Given the description of an element on the screen output the (x, y) to click on. 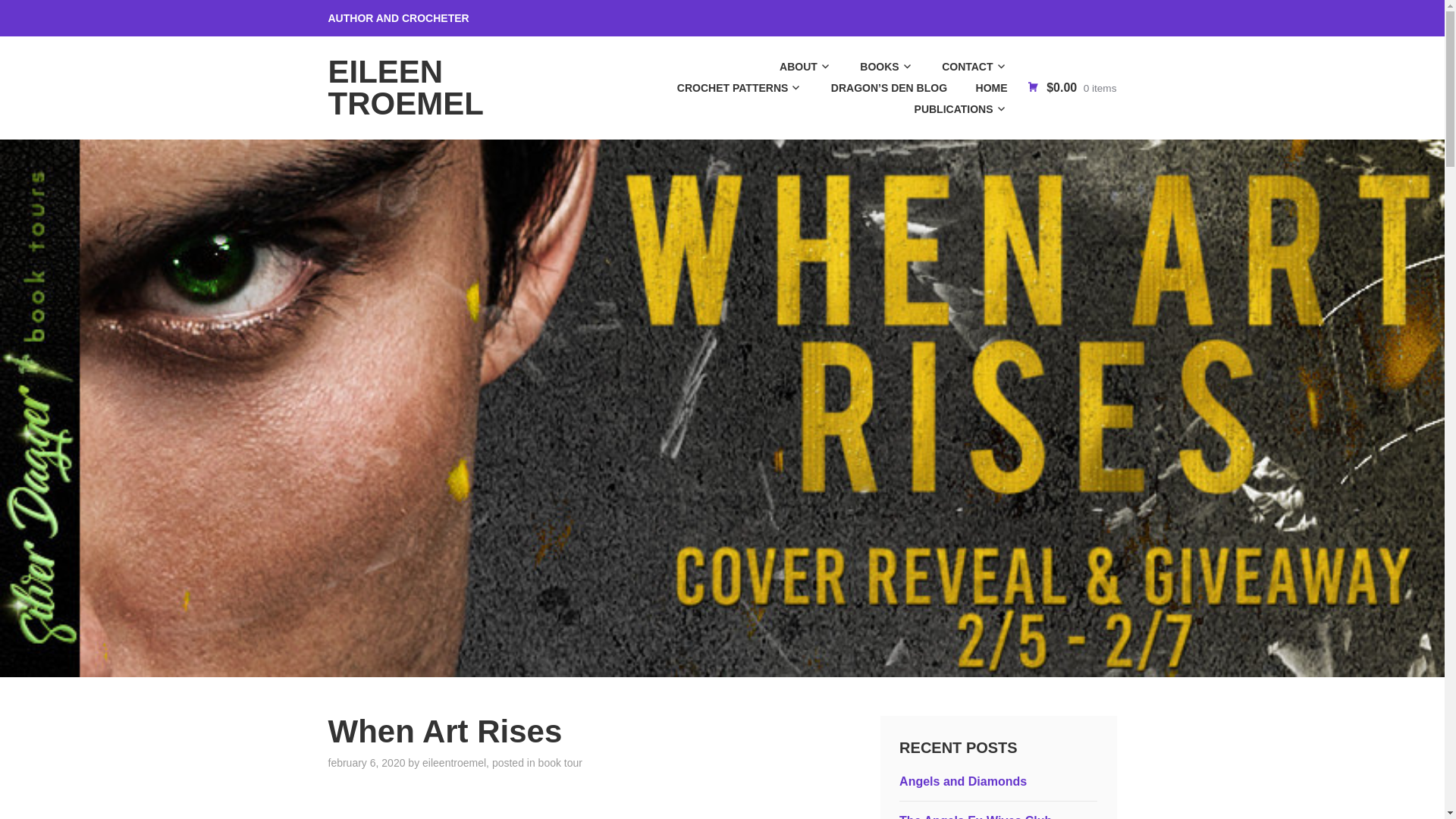
CONTACT (962, 66)
book tour (560, 762)
View your shopping cart (1071, 87)
ABOUT (792, 66)
eileentroemel (454, 762)
PUBLICATIONS (947, 108)
CROCHET PATTERNS (726, 87)
BOOKS (874, 66)
february 6, 2020 (365, 762)
EILEEN TROEMEL (405, 87)
HOME (978, 87)
